Given the description of an element on the screen output the (x, y) to click on. 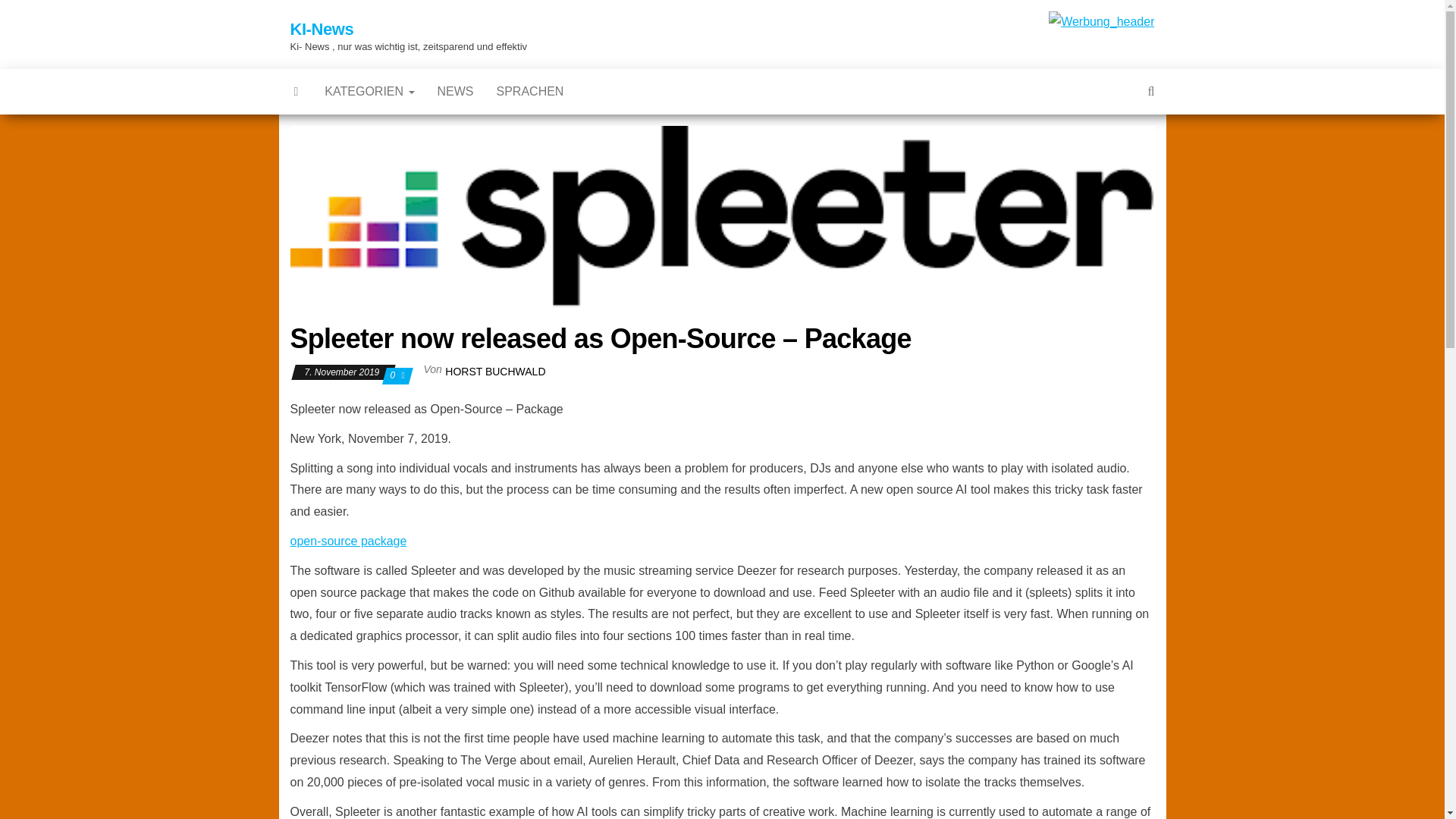
SPRACHEN (529, 91)
open-source package (347, 540)
KI-News (321, 28)
HORST BUCHWALD (494, 371)
KATEGORIEN (369, 91)
Sprachen (529, 91)
Kategorien (369, 91)
News (455, 91)
NEWS (455, 91)
